Given the description of an element on the screen output the (x, y) to click on. 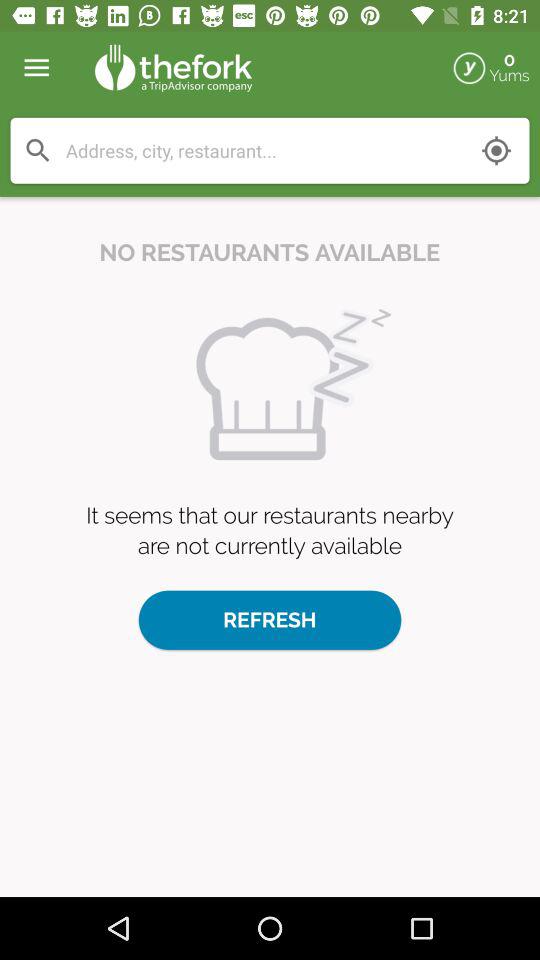
find your location (496, 150)
